Given the description of an element on the screen output the (x, y) to click on. 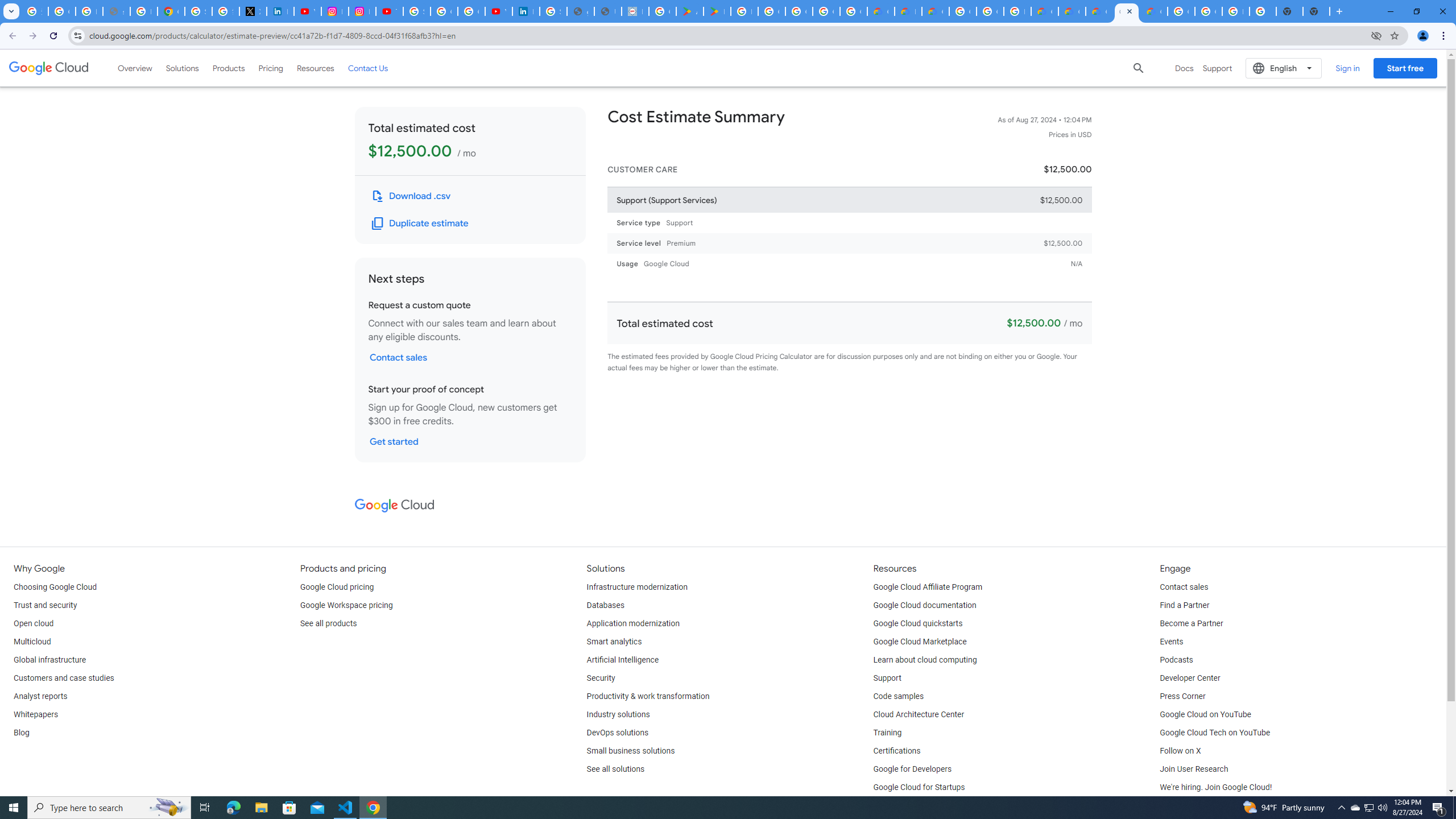
Follow on X (1179, 751)
Data Privacy Framework (634, 11)
Resources (314, 67)
Sign in - Google Accounts (553, 11)
Start free (1405, 67)
LinkedIn Privacy Policy (280, 11)
Databases (605, 605)
We're hiring. Join Google Cloud! (1215, 787)
Podcasts (1175, 660)
Google Cloud for Startups (919, 787)
Security (600, 678)
